Given the description of an element on the screen output the (x, y) to click on. 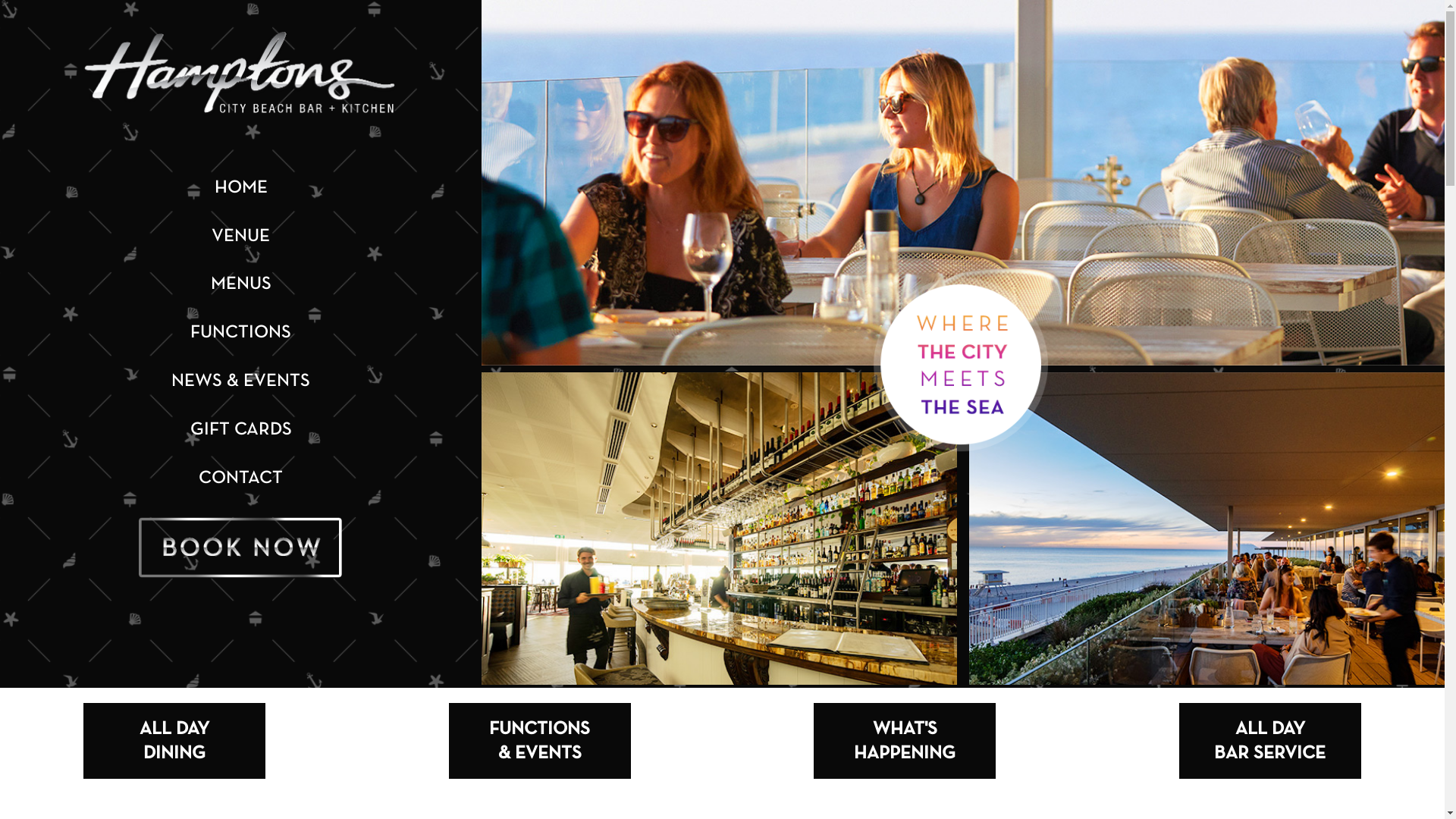
ALL DAY
DINING Element type: text (174, 740)
WHAT'S
HAPPENING Element type: text (904, 740)
HOME Element type: text (239, 187)
GIFT CARDS Element type: text (240, 429)
FUNCTIONS
& EVENTS Element type: text (539, 740)
ALL DAY
BAR SERVICE Element type: text (1270, 740)
VENUE Element type: text (240, 236)
NEWS & EVENTS Element type: text (240, 381)
MENUS Element type: text (240, 284)
CONTACT Element type: text (240, 478)
FUNCTIONS Element type: text (240, 332)
